Given the description of an element on the screen output the (x, y) to click on. 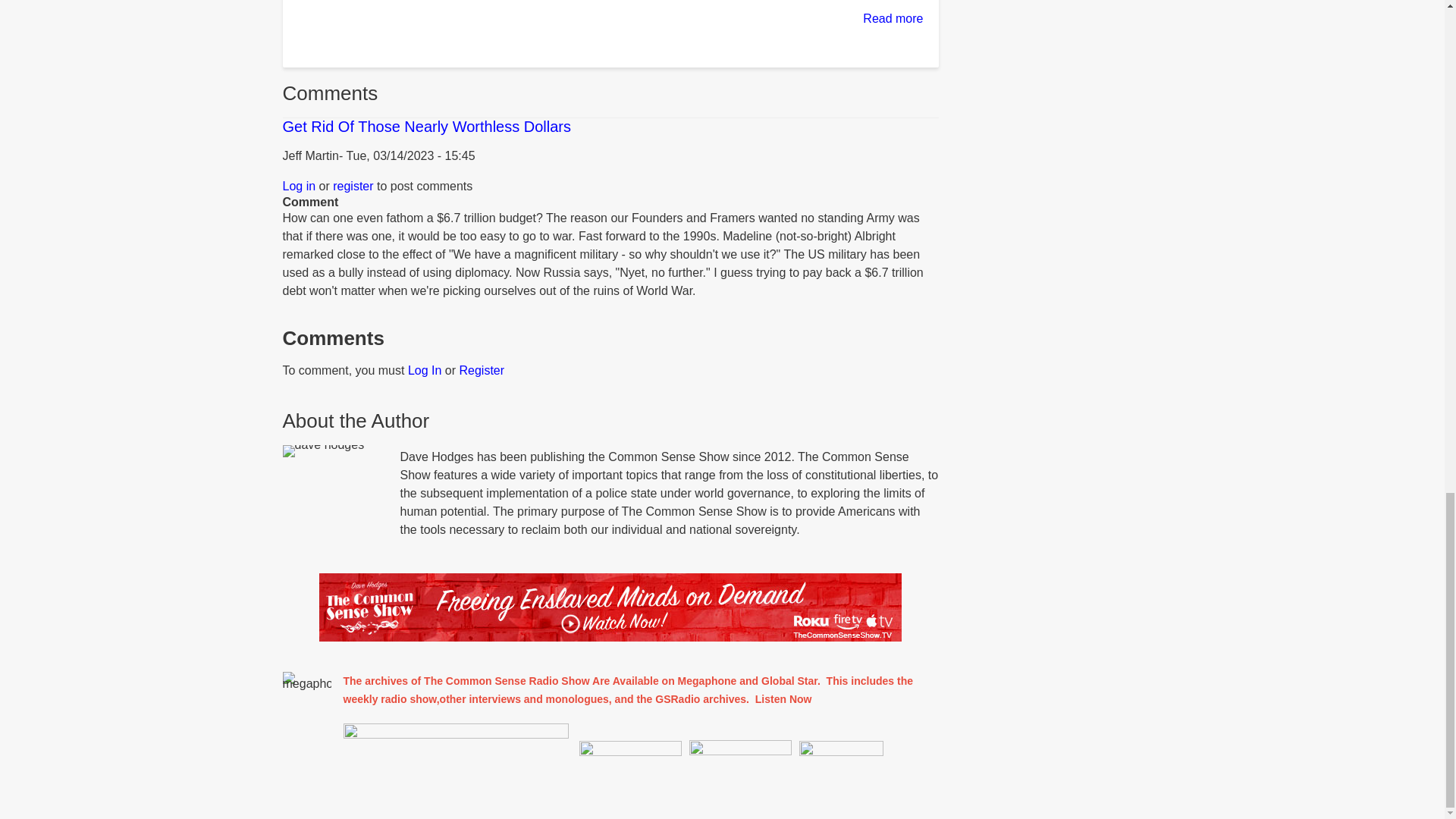
Log In (424, 369)
Register (482, 369)
Read more (893, 18)
Log in (298, 185)
Get Rid Of Those Nearly Worthless Dollars (426, 125)
register (352, 185)
